Given the description of an element on the screen output the (x, y) to click on. 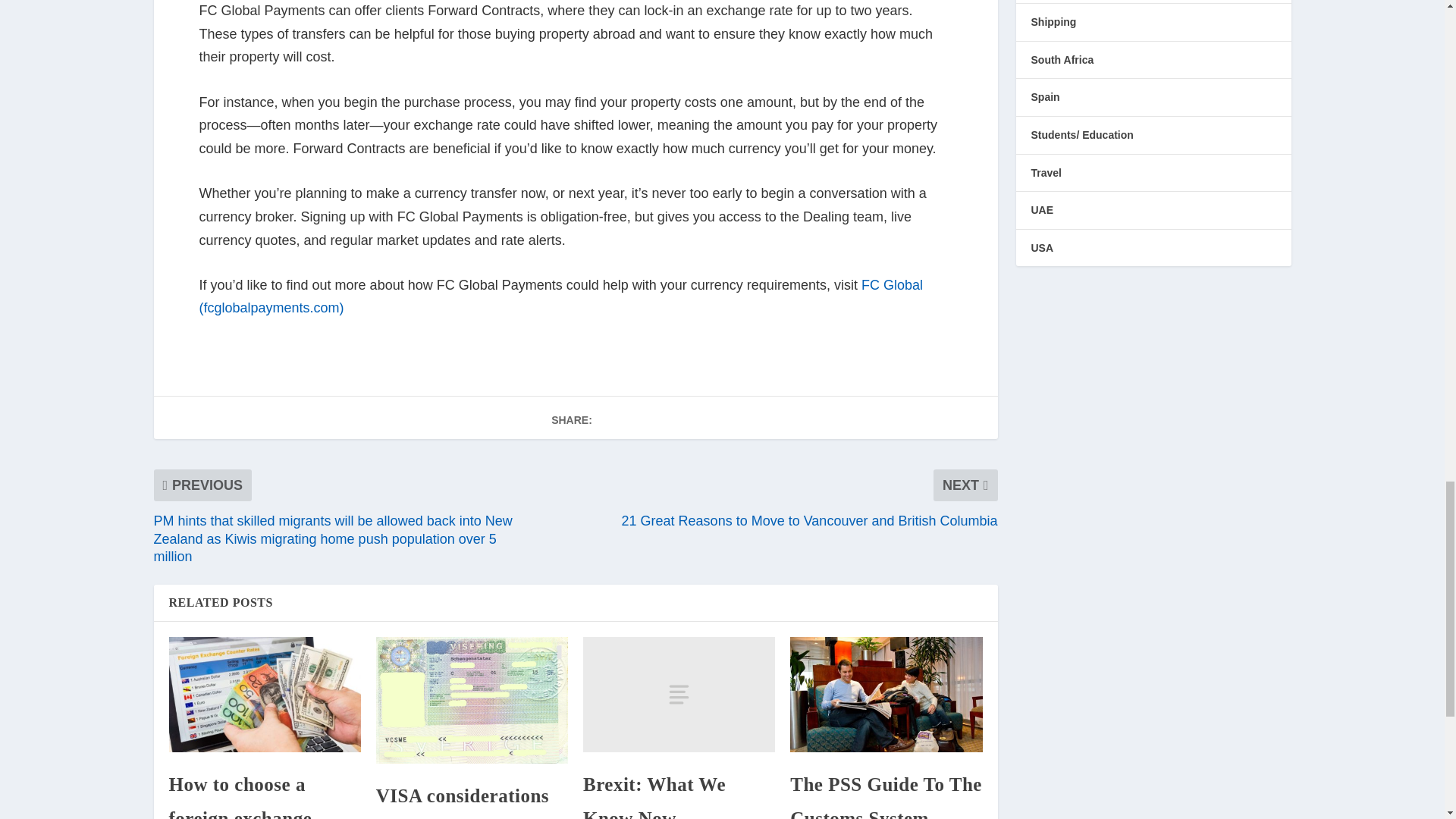
Brexit: What We Know Now (678, 694)
The PSS Guide To The Customs System (885, 694)
VISA considerations when moving abroad (471, 700)
